Given the description of an element on the screen output the (x, y) to click on. 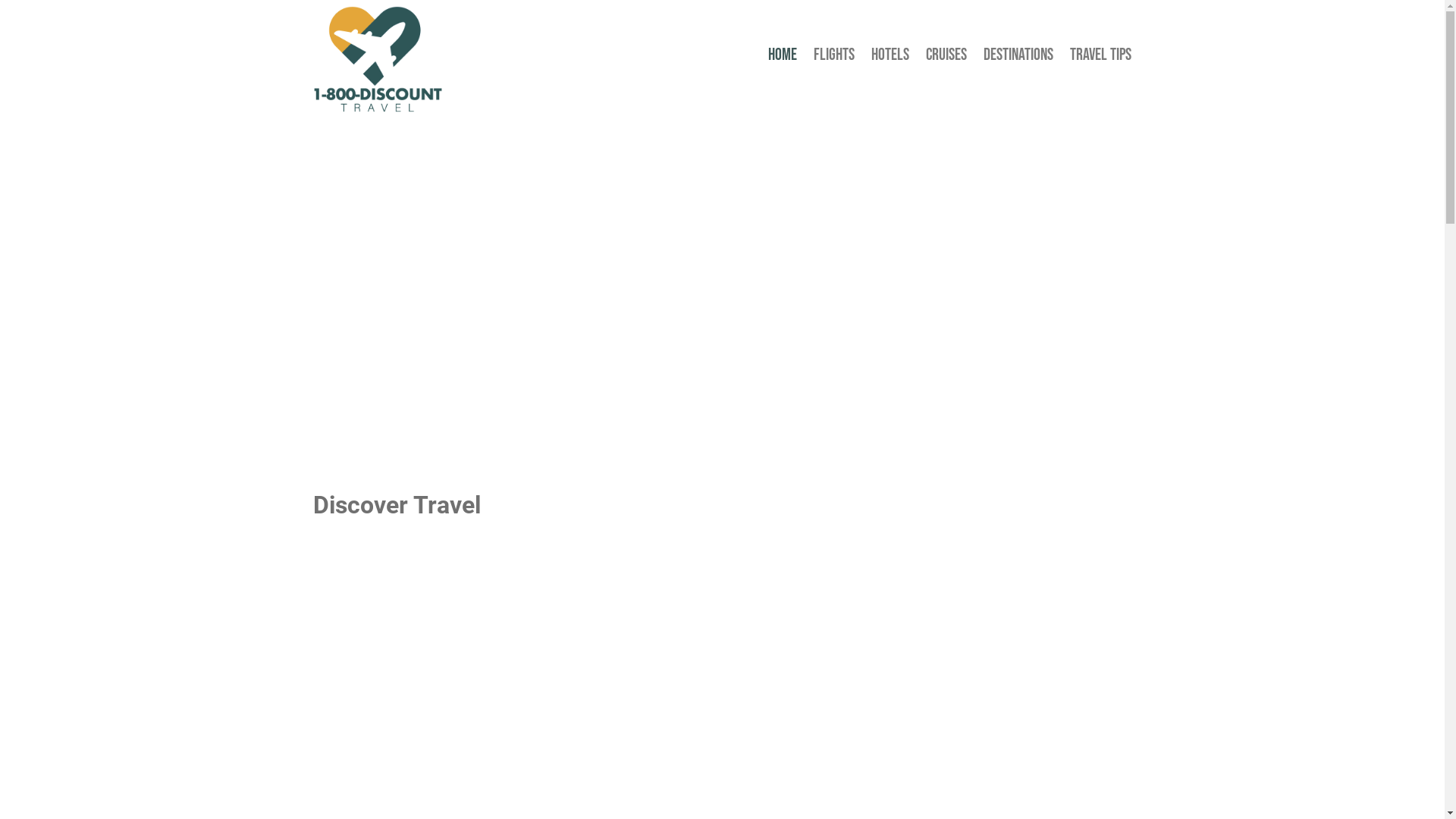
TRAVEL TIPS Element type: text (1100, 58)
HOTELS Element type: text (890, 58)
DESTINATIONS Element type: text (1018, 58)
HOME Element type: text (782, 58)
FLIGHTS Element type: text (833, 58)
CRUISES Element type: text (945, 58)
